Given the description of an element on the screen output the (x, y) to click on. 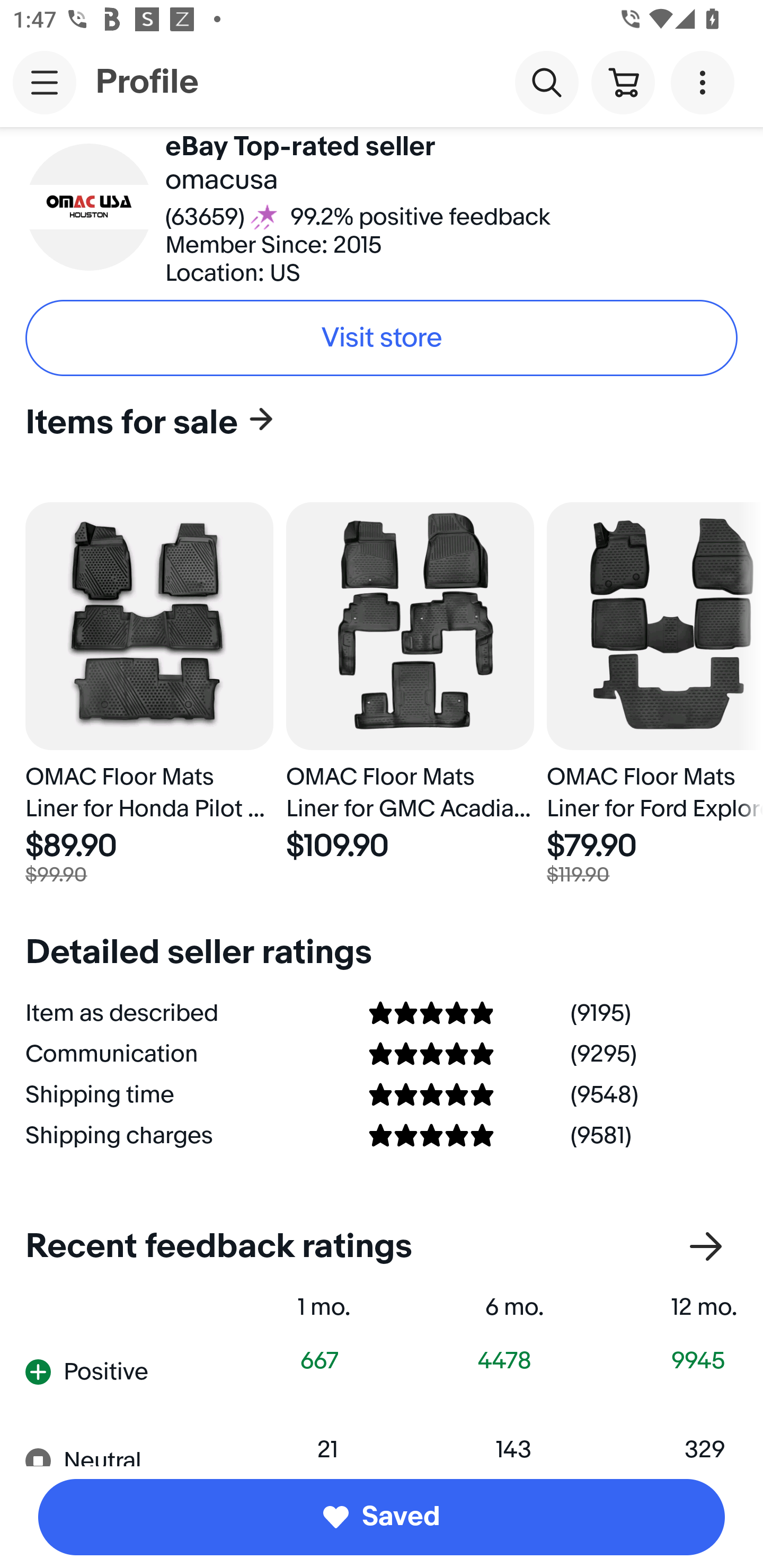
Main navigation, open (44, 82)
Search (546, 81)
Cart button shopping cart (623, 81)
More options (705, 81)
Visit store (381, 337)
Items for sale Items for sale   (374, 422)
Recent feedback ratings (381, 1247)
Positive Open all positive rating details. (112, 1371)
Neutral Open all neutral rating details. (112, 1444)
Saved (381, 1516)
